Given the description of an element on the screen output the (x, y) to click on. 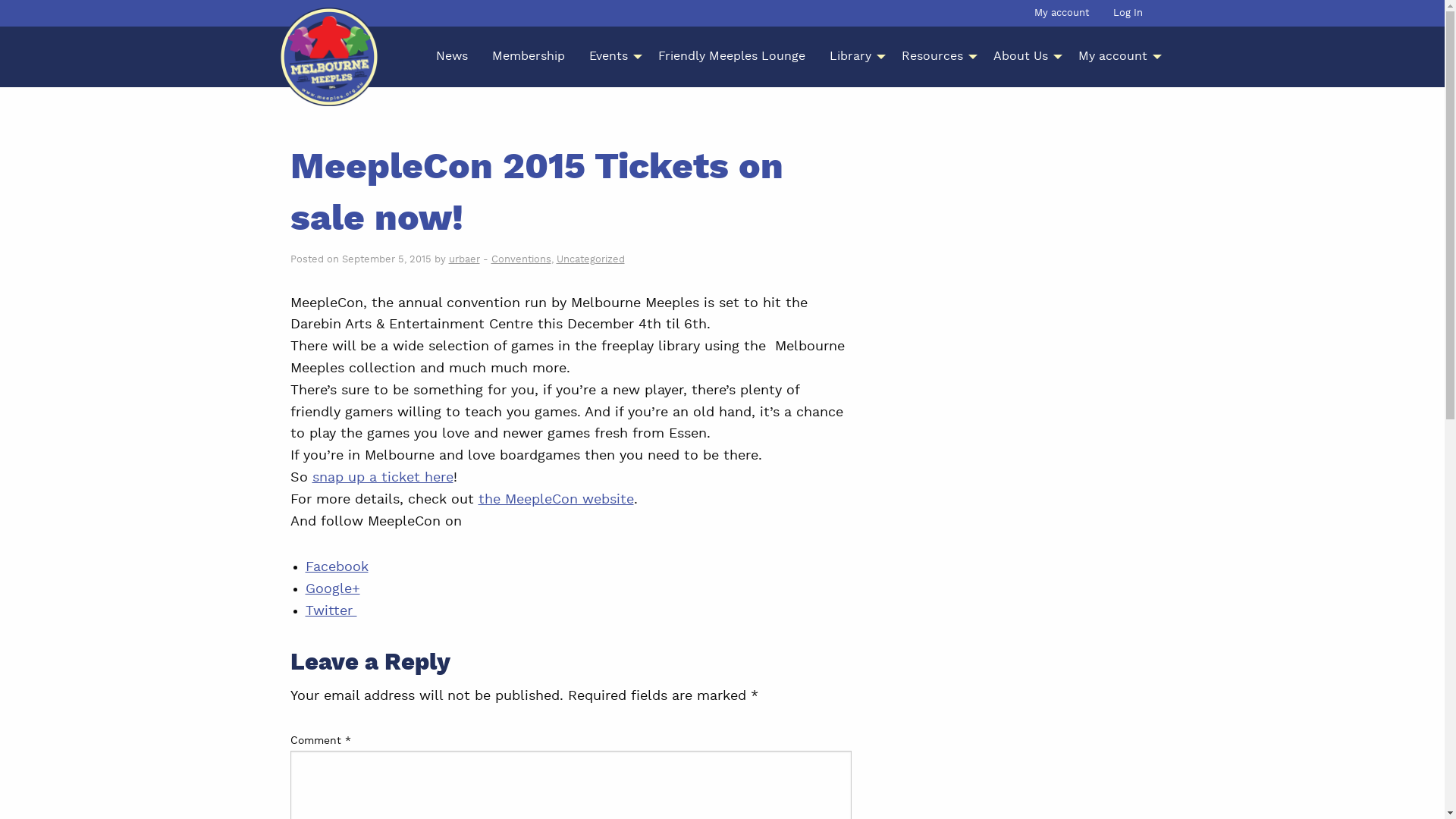
the MeepleCon website Element type: text (555, 499)
Twitter  Element type: text (330, 611)
My account Element type: text (1115, 56)
urbaer Element type: text (464, 259)
News Element type: text (451, 56)
Friendly Meeples Lounge Element type: text (731, 56)
Library Element type: text (853, 56)
My account Element type: text (1061, 13)
Log In Element type: text (1127, 13)
Membership Element type: text (527, 56)
Facebook Element type: text (335, 567)
snap up a ticket here Element type: text (382, 477)
Conventions Element type: text (521, 259)
About Us Element type: text (1023, 56)
Google+ Element type: text (331, 589)
Events Element type: text (610, 56)
Uncategorized Element type: text (590, 259)
Resources Element type: text (934, 56)
